Given the description of an element on the screen output the (x, y) to click on. 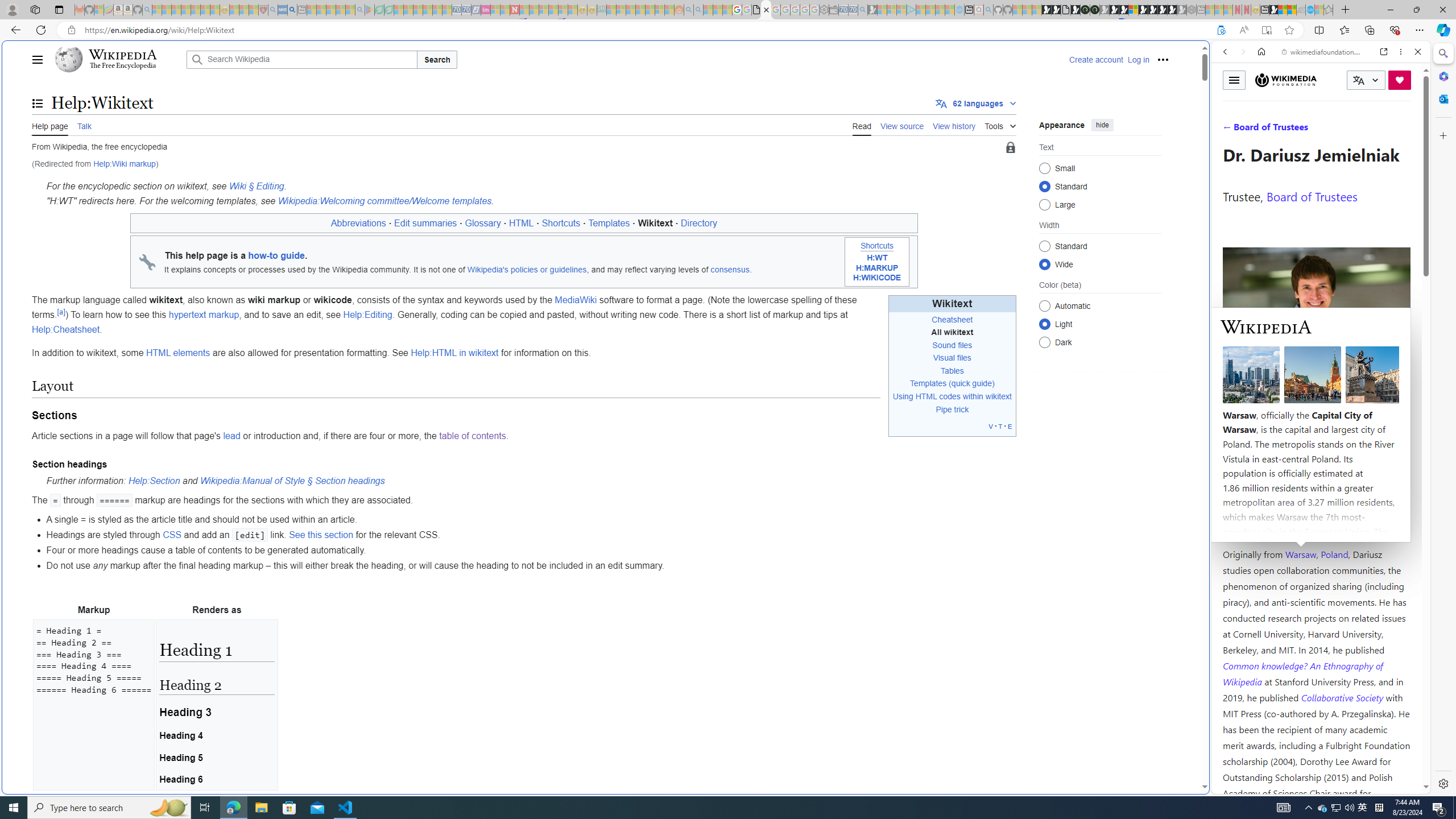
utah sues federal government - Search (922, 389)
table of contents (472, 435)
Wikitext (952, 303)
Visual files (951, 357)
Wikipedia's policies or guidelines (526, 269)
